Given the description of an element on the screen output the (x, y) to click on. 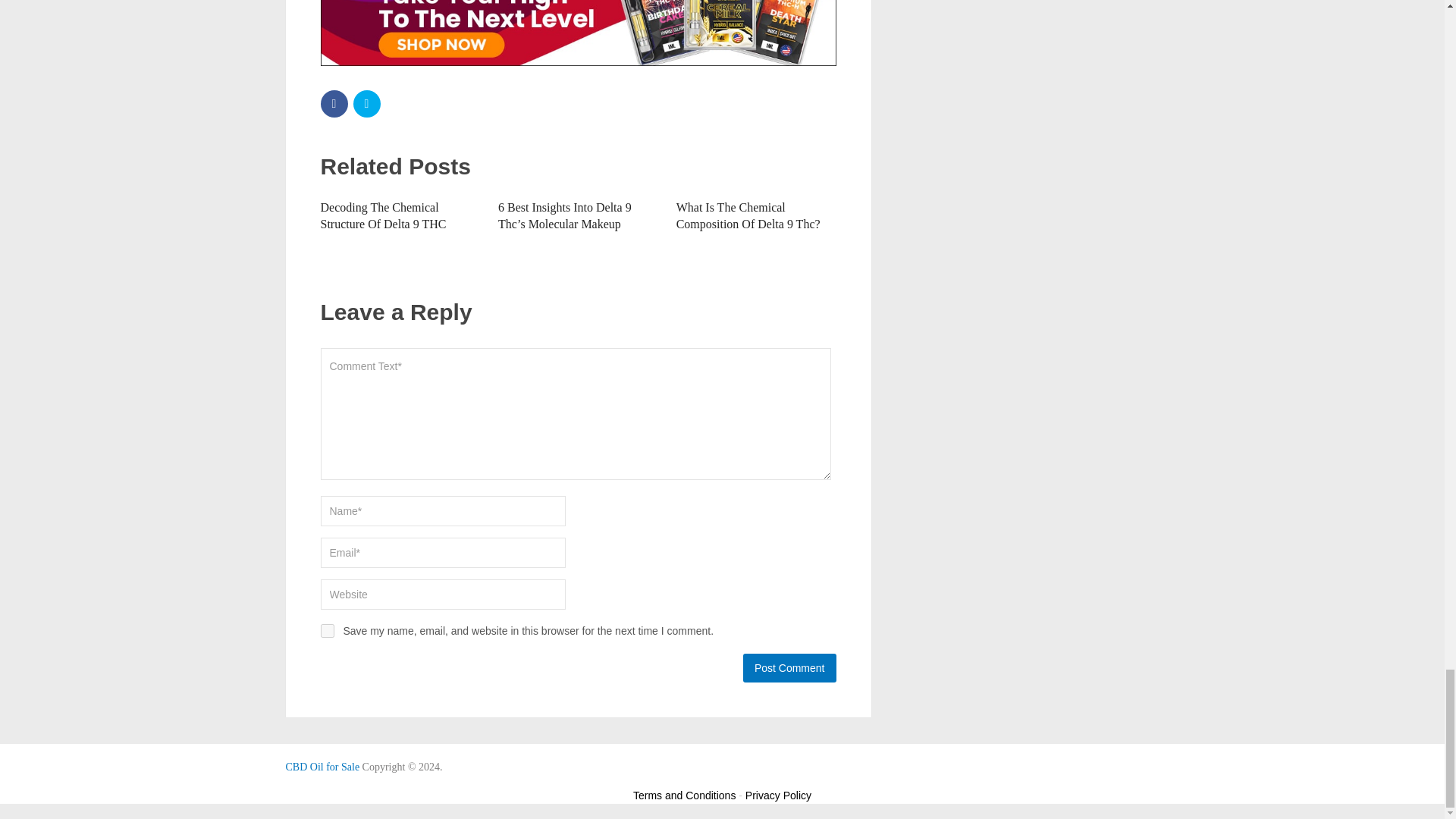
Decoding The Chemical Structure Of Delta 9 THC (382, 215)
Post Comment (788, 667)
Post Comment (788, 667)
What Is The Chemical Composition Of Delta 9 Thc? (749, 215)
yes (326, 631)
